Given the description of an element on the screen output the (x, y) to click on. 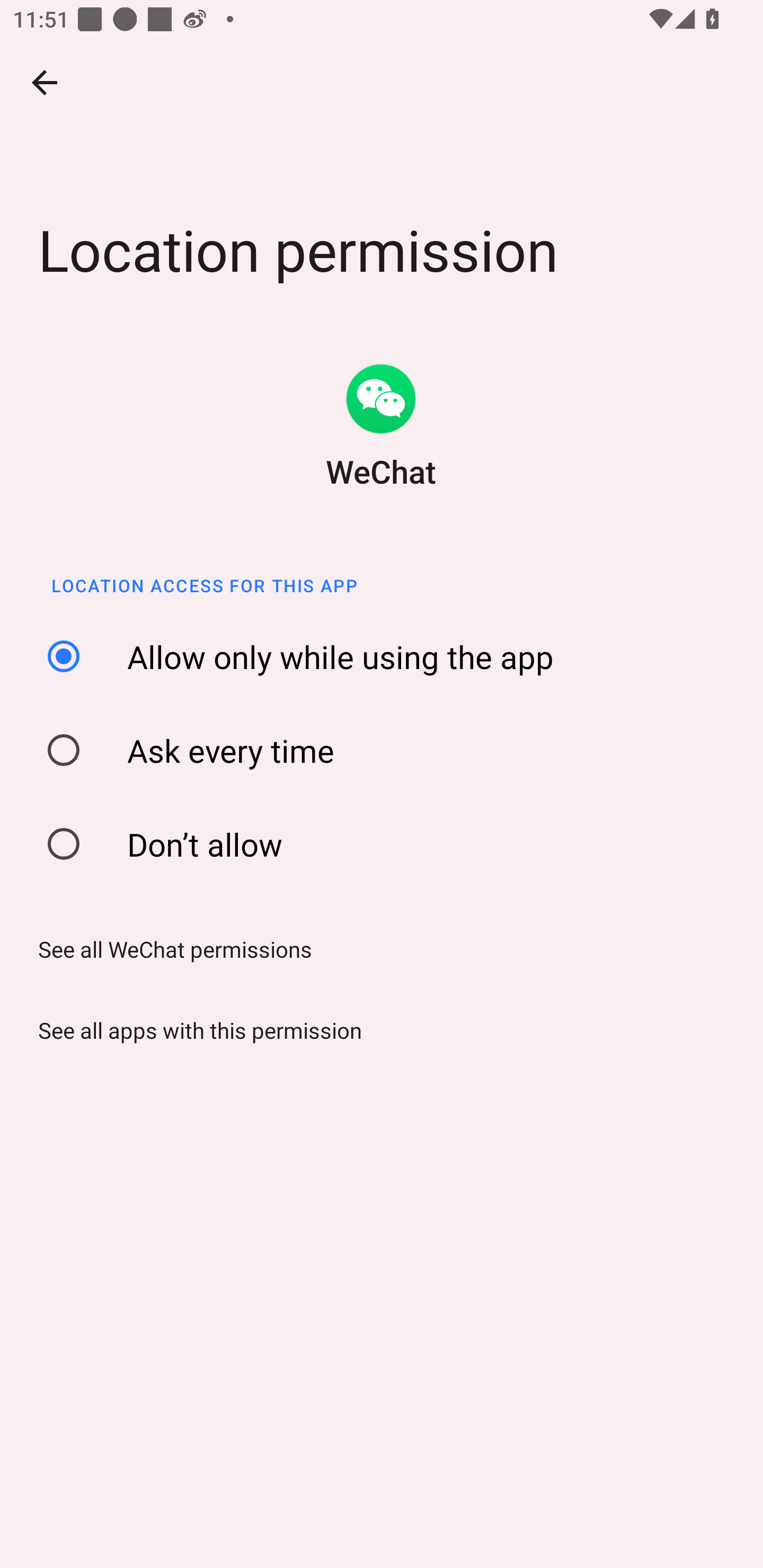
Back (44, 82)
Allow only while using the app (387, 656)
Ask every time (387, 750)
Don’t allow (387, 844)
See all WeChat permissions (169, 948)
See all apps with this permission (193, 1029)
